Given the description of an element on the screen output the (x, y) to click on. 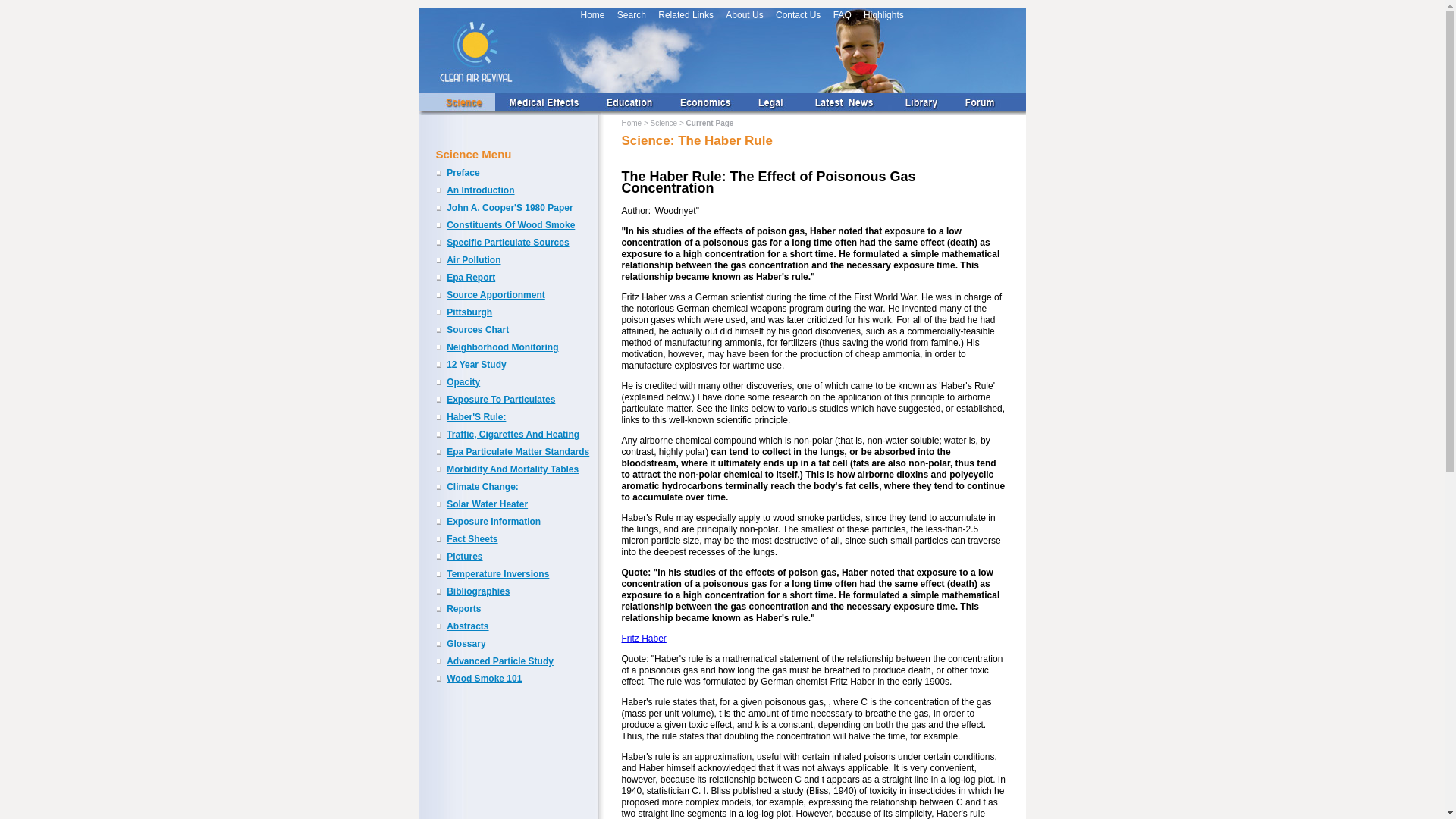
Specific Particulate Sources (507, 242)
Pittsburgh (469, 312)
Exposure Information (493, 521)
Home Page (631, 122)
Solar Water Heater (486, 503)
FAQ (841, 14)
Search (631, 14)
12 Year Study (476, 364)
Morbidity And Mortality Tables (512, 469)
Related Links (685, 14)
